Given the description of an element on the screen output the (x, y) to click on. 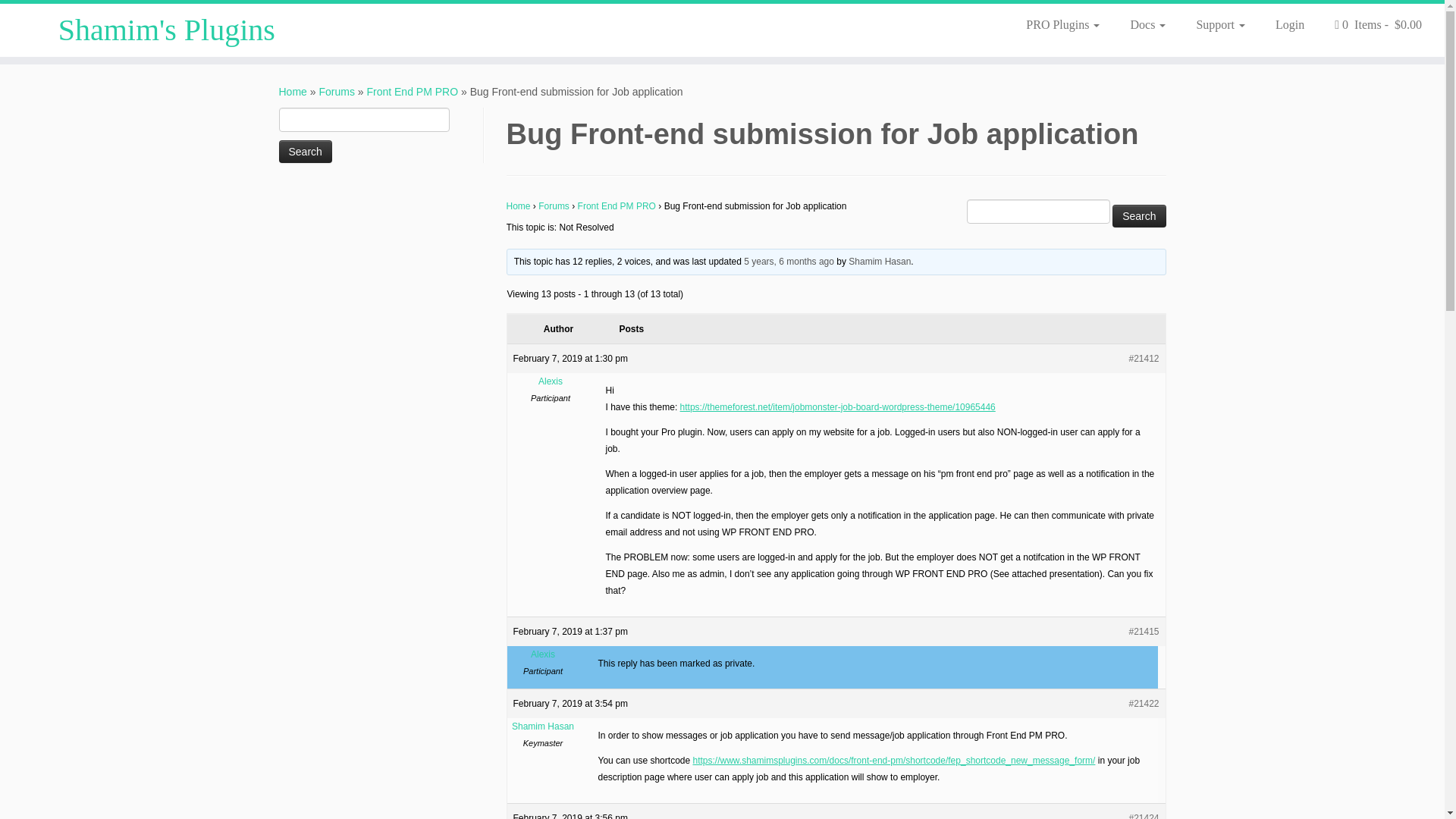
Home (293, 91)
Alexis (542, 654)
Search (1139, 215)
Search (1139, 215)
View Alexis's profile (550, 381)
Support (1220, 24)
Login (1289, 24)
Shamim's Plugins (166, 30)
Shamim Hasan (542, 726)
View Alexis's profile (542, 654)
